Given the description of an element on the screen output the (x, y) to click on. 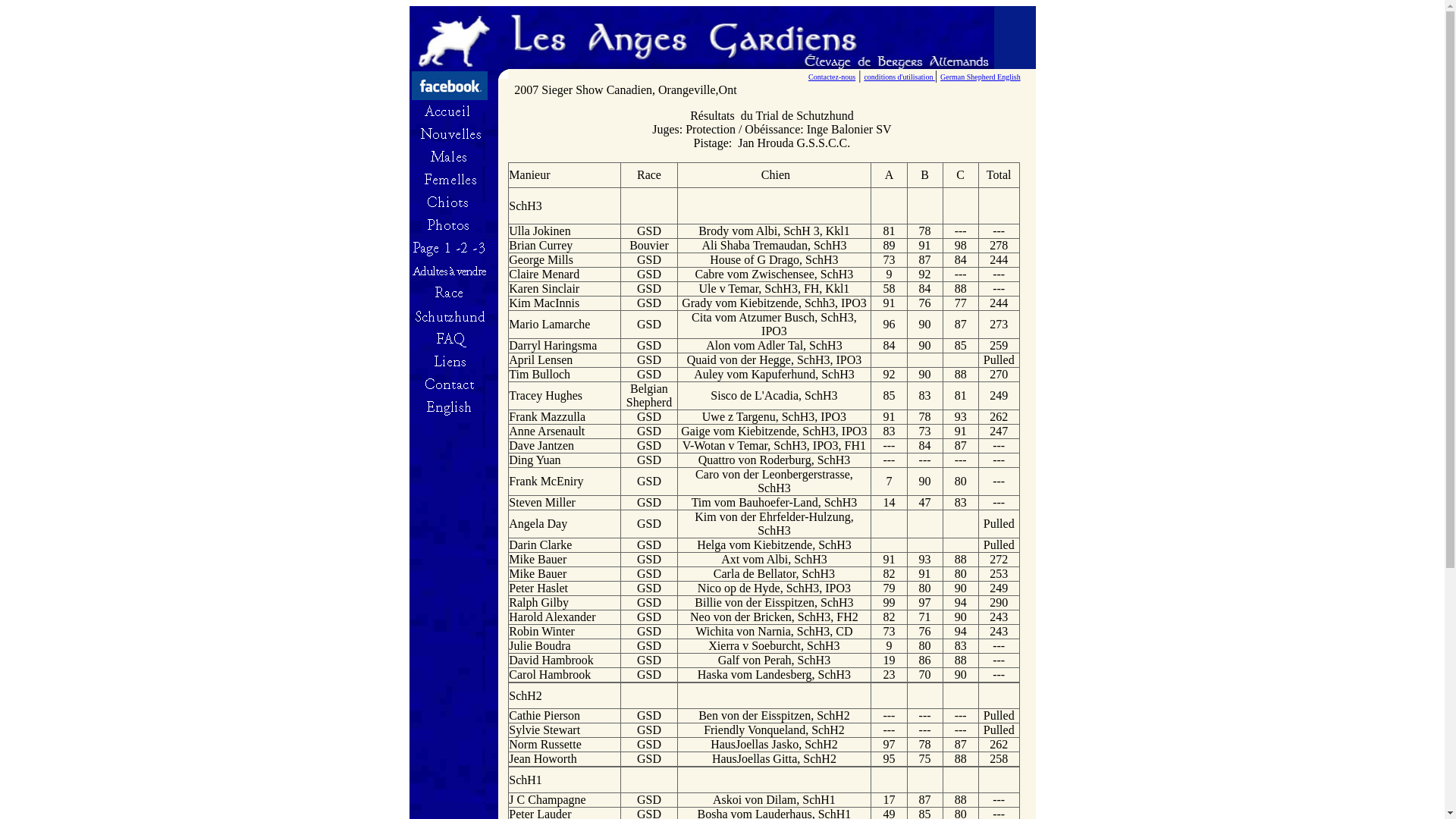
Contactez-nous Element type: text (831, 75)
conditions d'utilisation Element type: text (898, 75)
German Shepherd English Element type: text (980, 75)
